Given the description of an element on the screen output the (x, y) to click on. 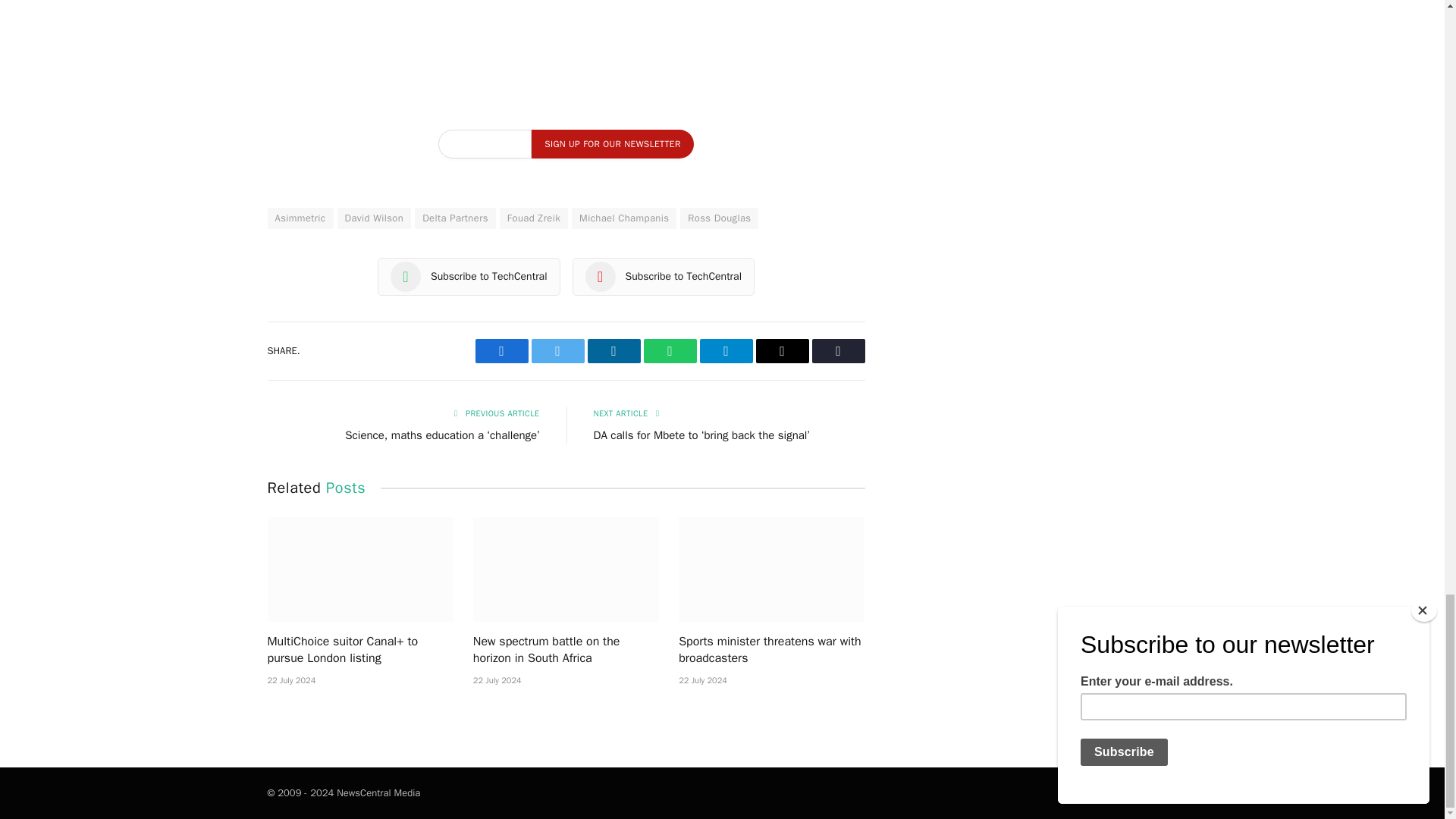
Sign up for our newsletter (612, 143)
